Given the description of an element on the screen output the (x, y) to click on. 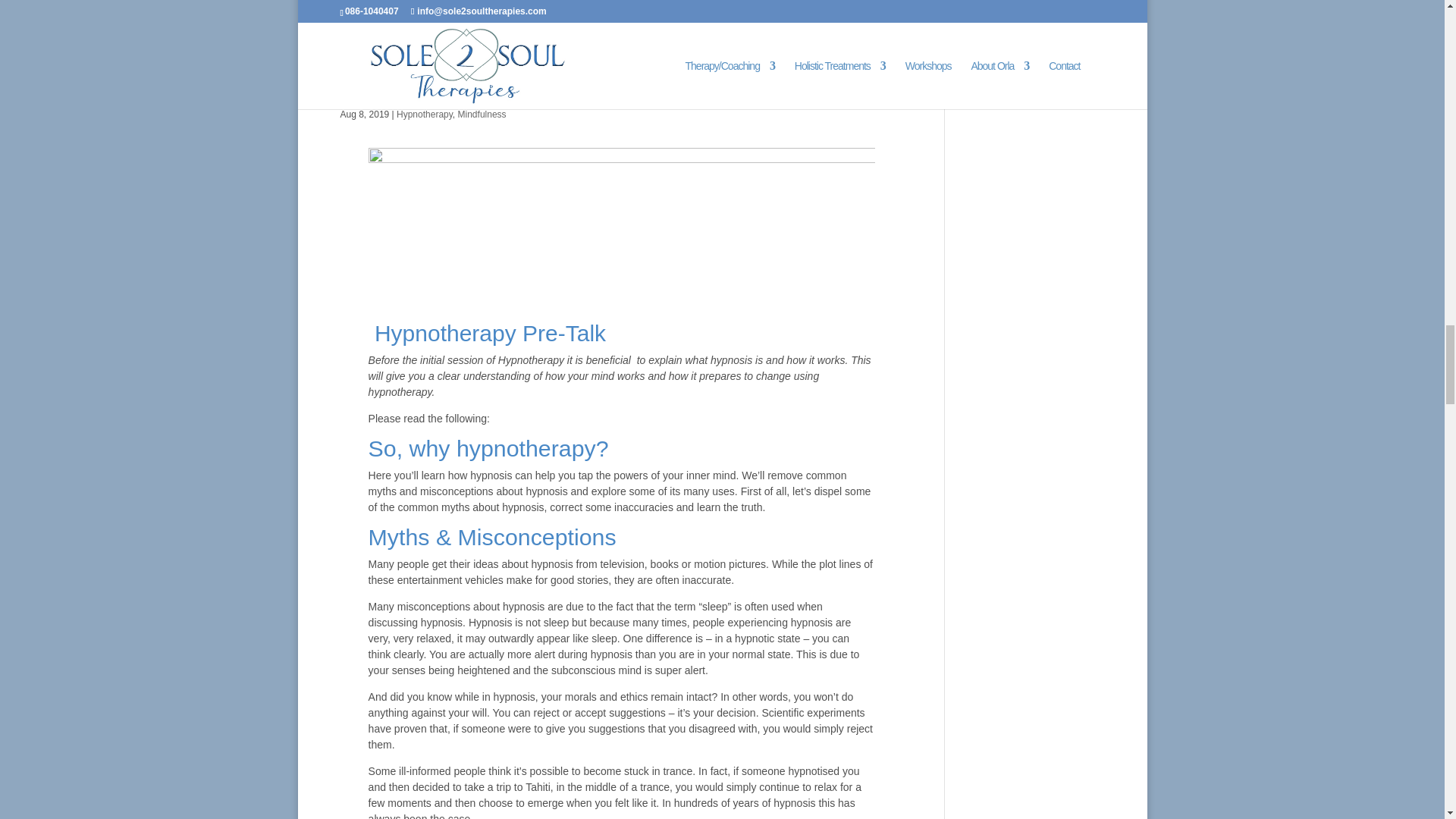
Hypnotherapy (424, 113)
Mindfulness (482, 113)
Hypnotherapy Pre-Talk (456, 86)
forest-header (621, 225)
